Given the description of an element on the screen output the (x, y) to click on. 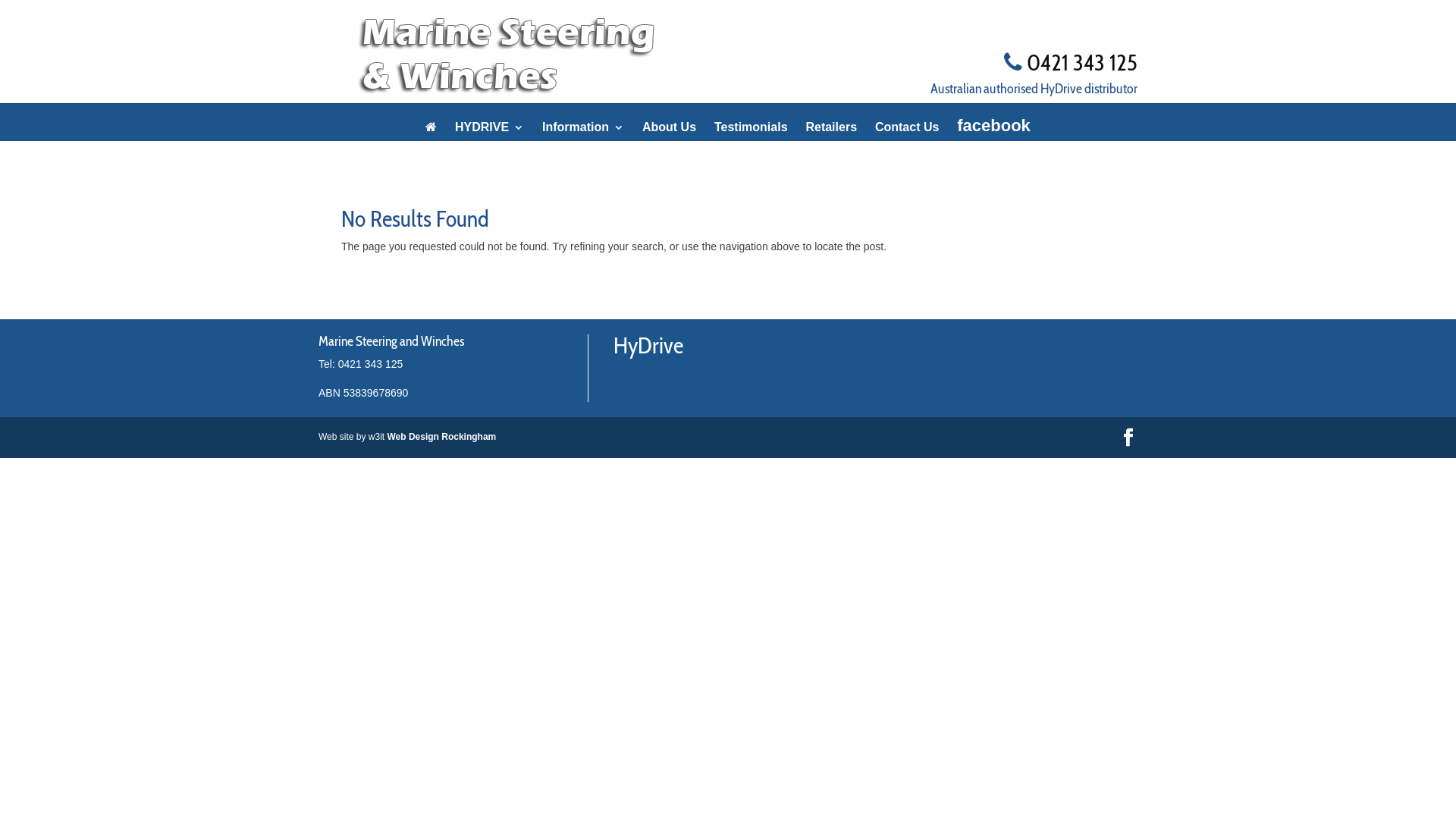
facebook Element type: text (993, 138)
Testimonials Element type: text (750, 139)
HyDrive Element type: text (648, 349)
Information Element type: text (583, 139)
HYDRIVE Element type: text (489, 139)
Contact Us Element type: text (906, 139)
Web Design Rockingham Element type: text (440, 436)
0421 343 125 Element type: text (370, 363)
Retailers Element type: text (830, 139)
About Us Element type: text (669, 139)
0421 343 125 Element type: text (1081, 62)
